Given the description of an element on the screen output the (x, y) to click on. 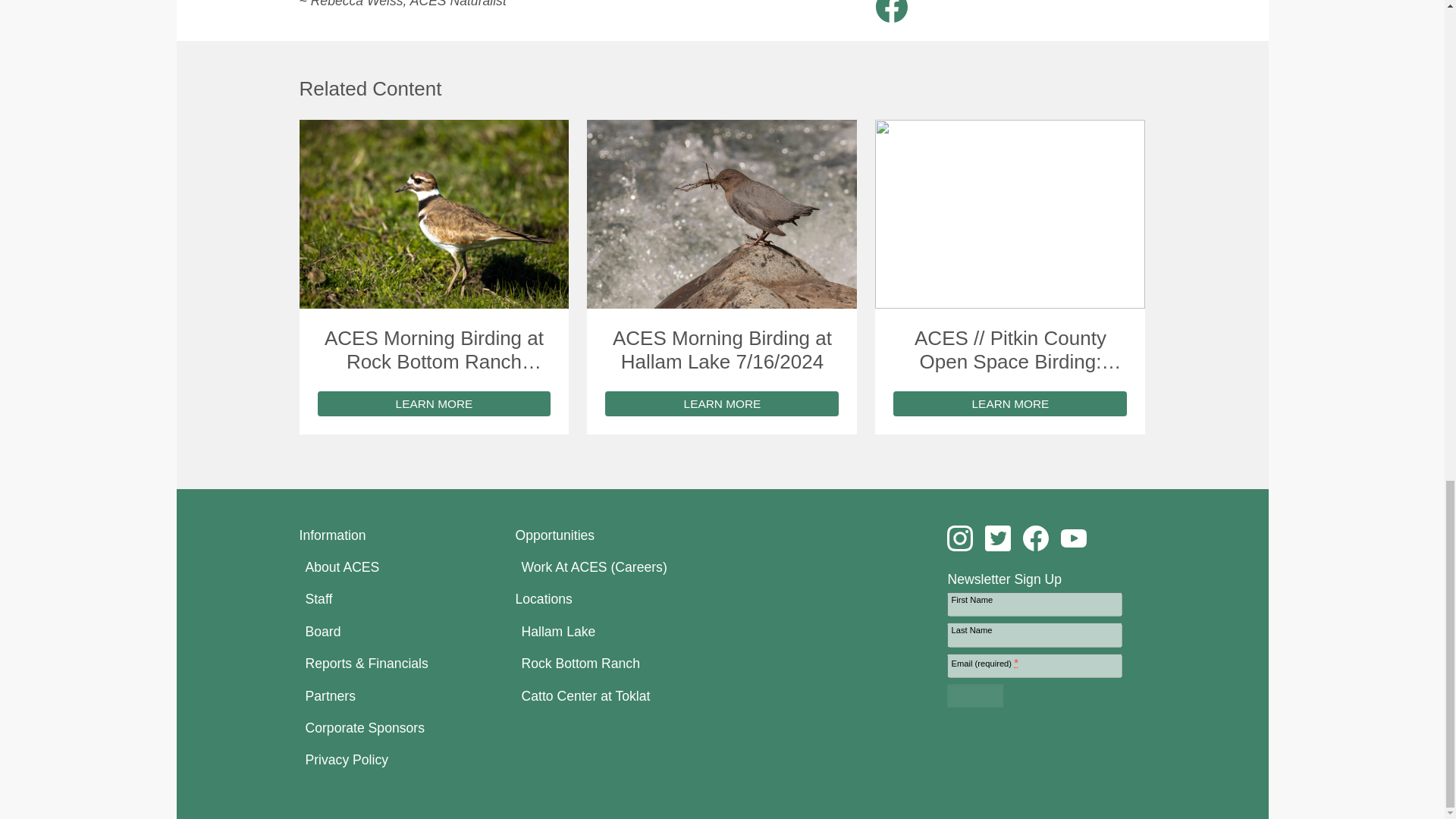
american dipper-1 (721, 213)
Sign up (975, 695)
killdeer (433, 213)
